Given the description of an element on the screen output the (x, y) to click on. 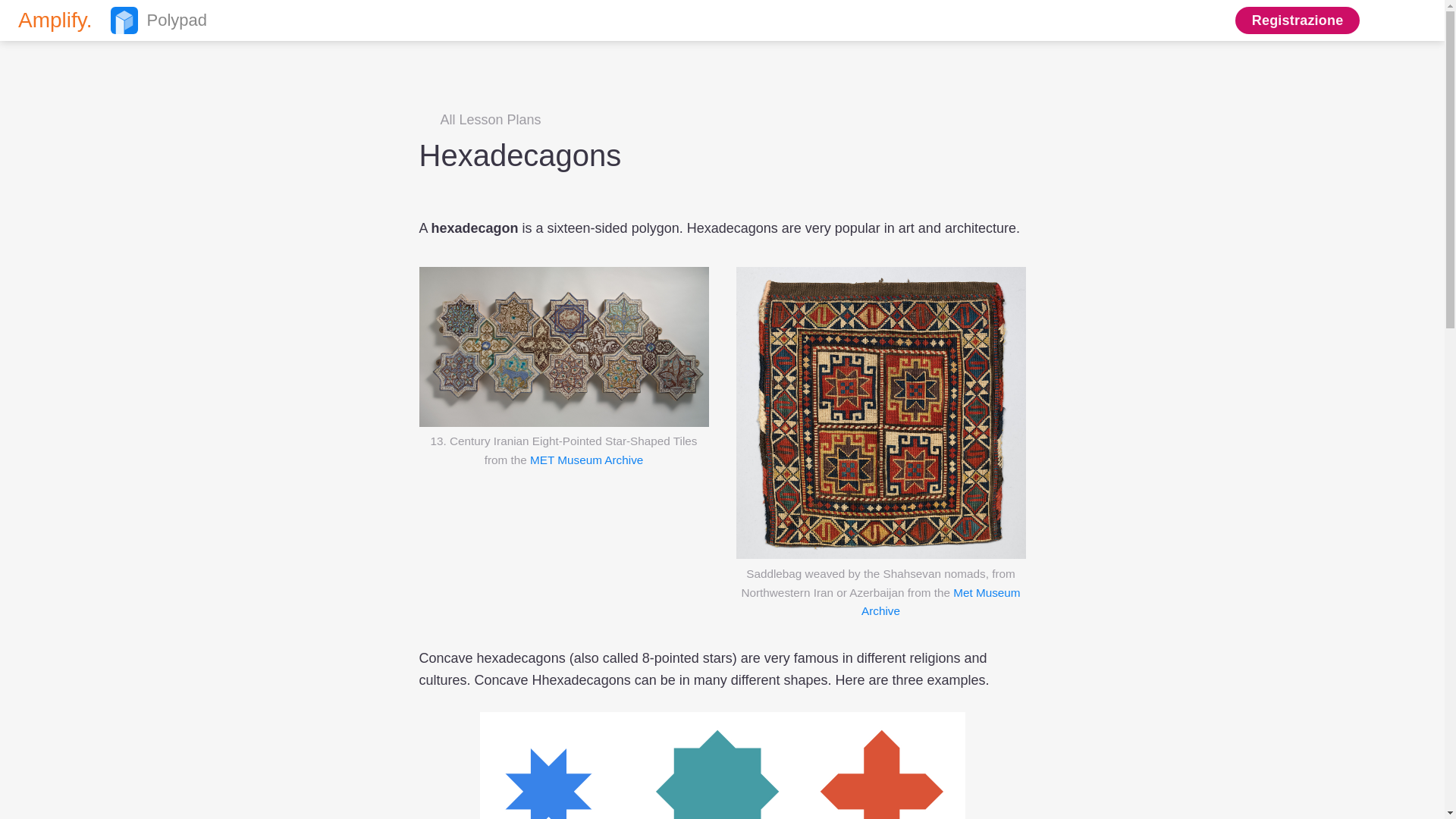
Aiuto (106, 20)
Casa (1382, 20)
Registrazione (106, 20)
